Given the description of an element on the screen output the (x, y) to click on. 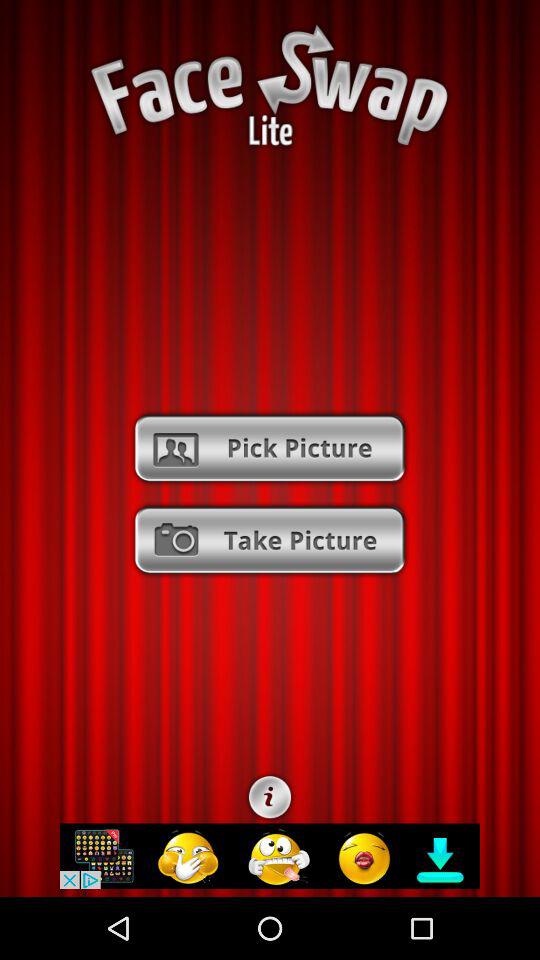
read information (269, 797)
